Given the description of an element on the screen output the (x, y) to click on. 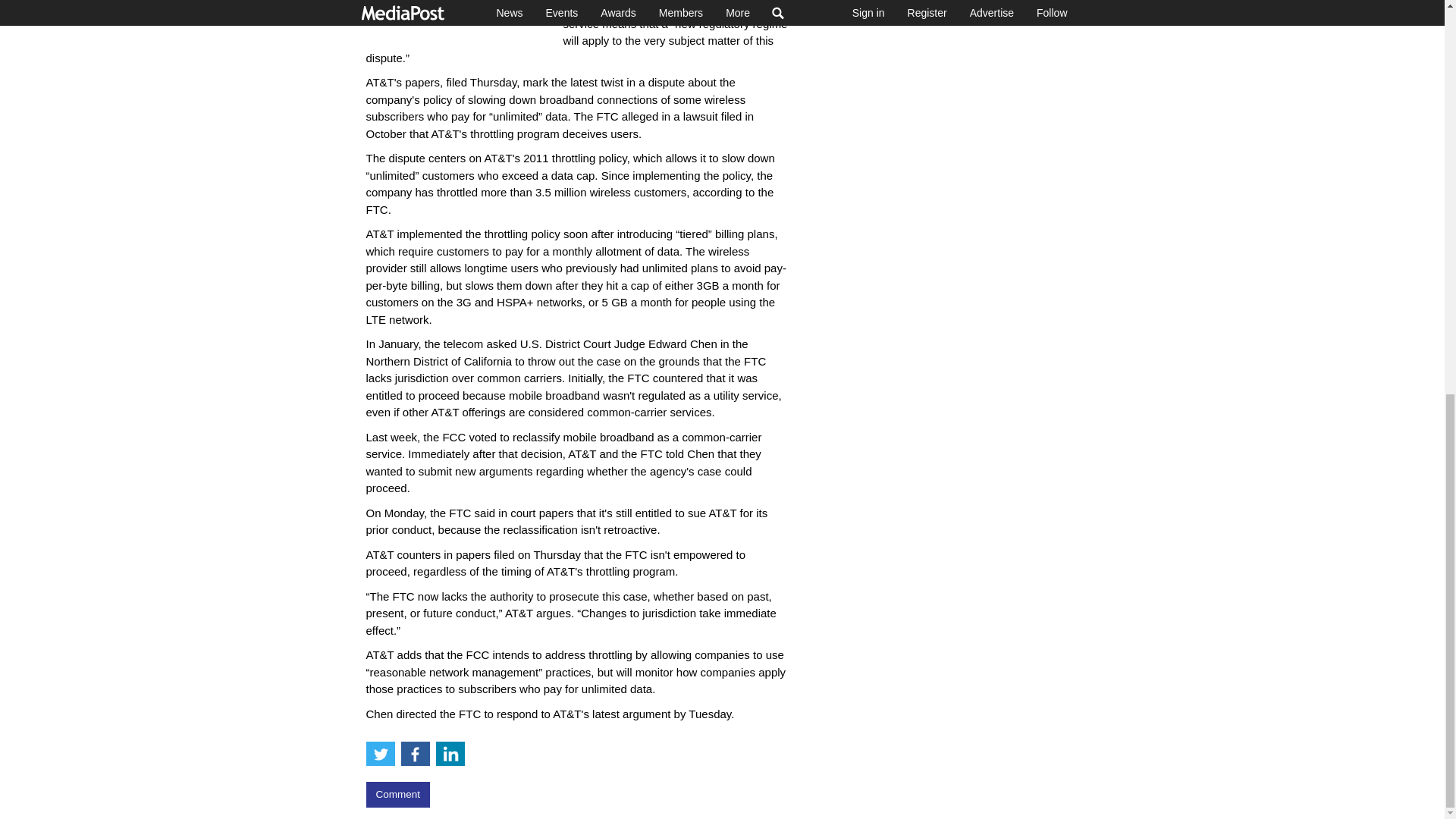
Share on Twitter (379, 753)
Share on LinkedIn (449, 753)
Share on Facebook (414, 753)
